Given the description of an element on the screen output the (x, y) to click on. 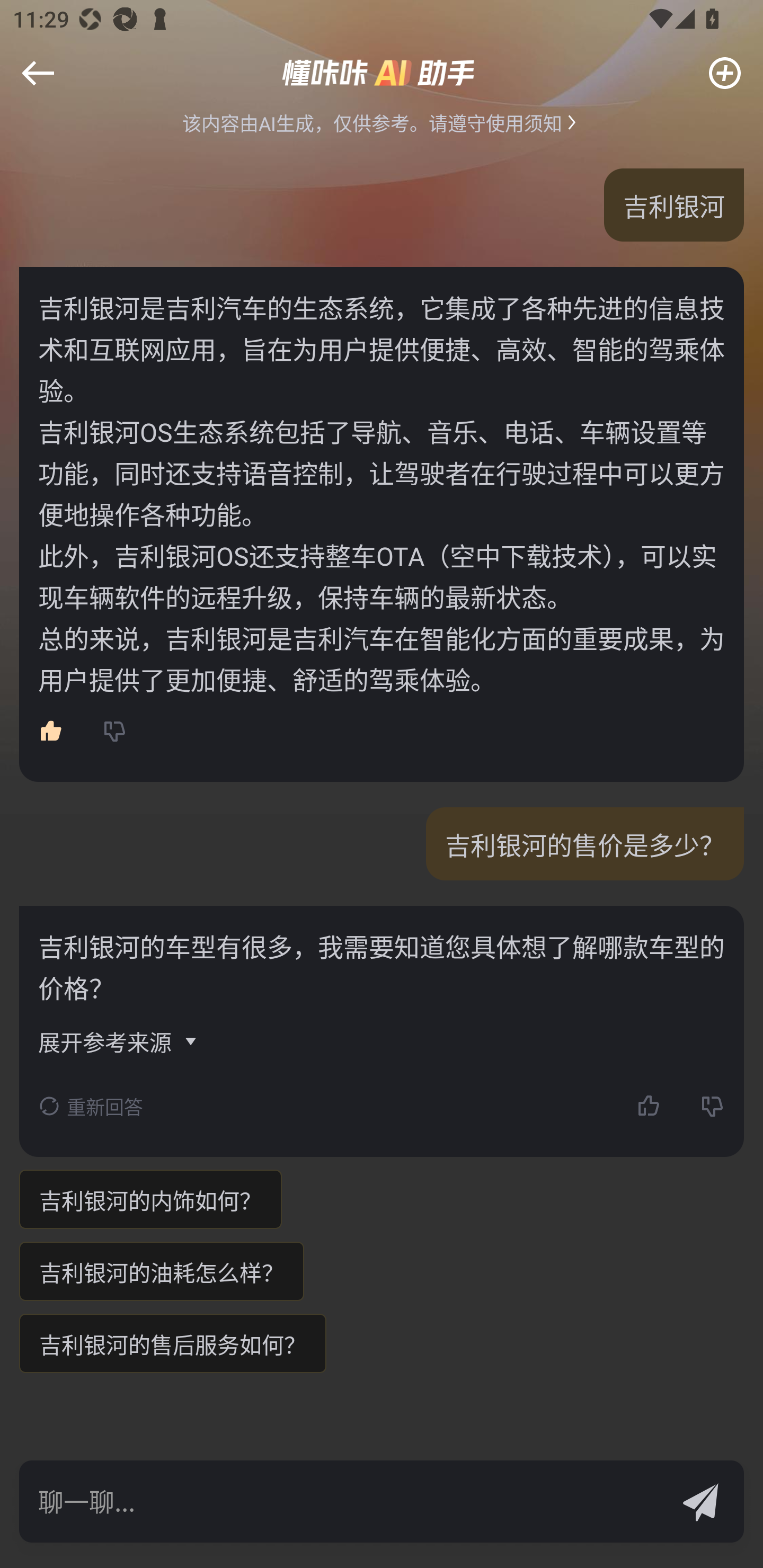
举报 (45, 85)
该内容由AI生成，仅供参考。请遵守使用须知 (381, 122)
展开参考来源 (118, 1041)
重新回答 (90, 1106)
